Given the description of an element on the screen output the (x, y) to click on. 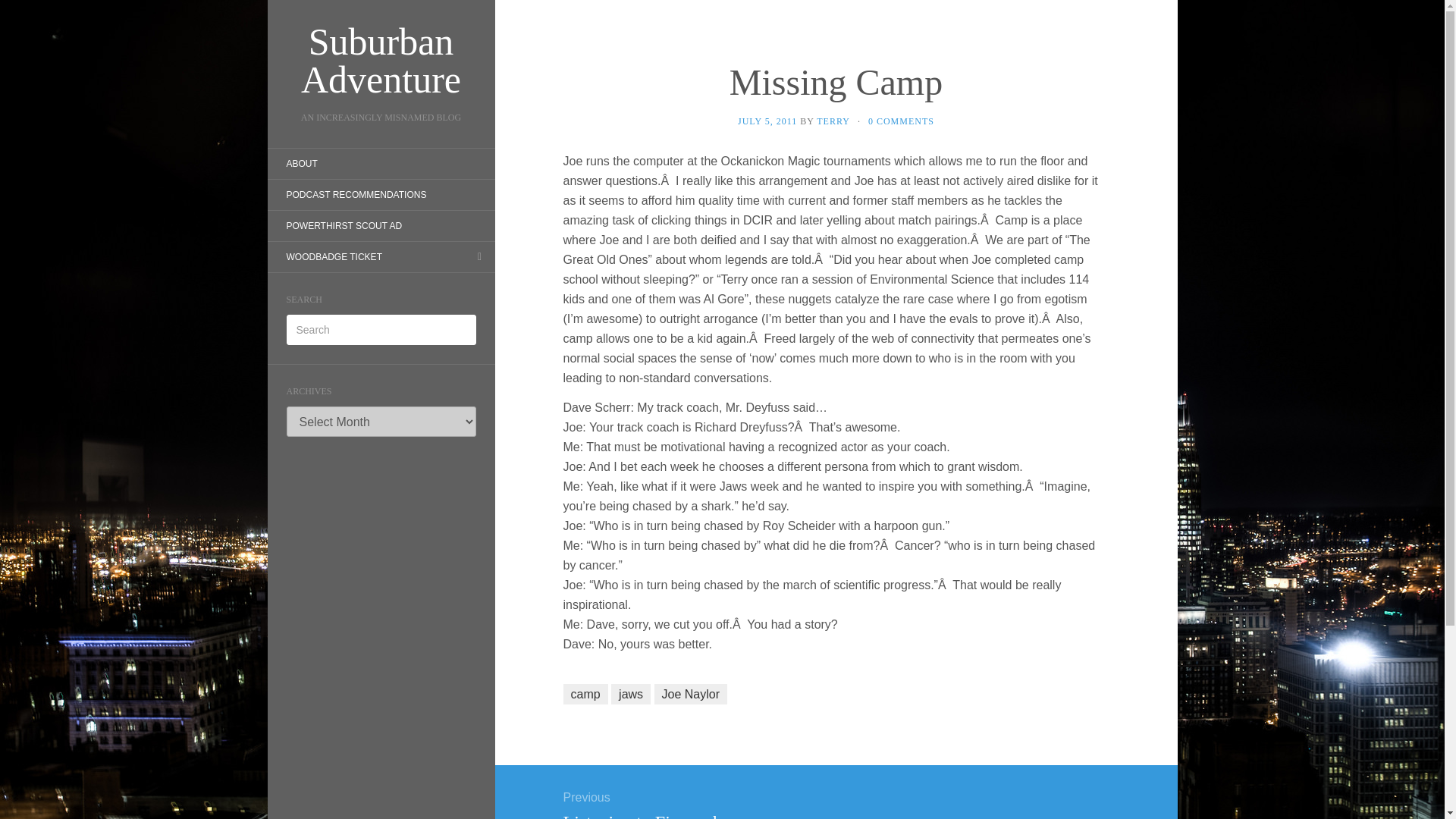
ABOUT (301, 163)
camp (584, 693)
PODCAST RECOMMENDATIONS (355, 194)
0 COMMENTS (900, 121)
jaws (630, 693)
JULY 5, 2011 (767, 121)
Suburban Adventure (380, 60)
Joe Naylor (689, 693)
WOODBADGE TICKET (333, 257)
Suburban Adventure (380, 60)
POWERTHIRST SCOUT AD (343, 225)
TERRY (833, 121)
Search (835, 803)
